Given the description of an element on the screen output the (x, y) to click on. 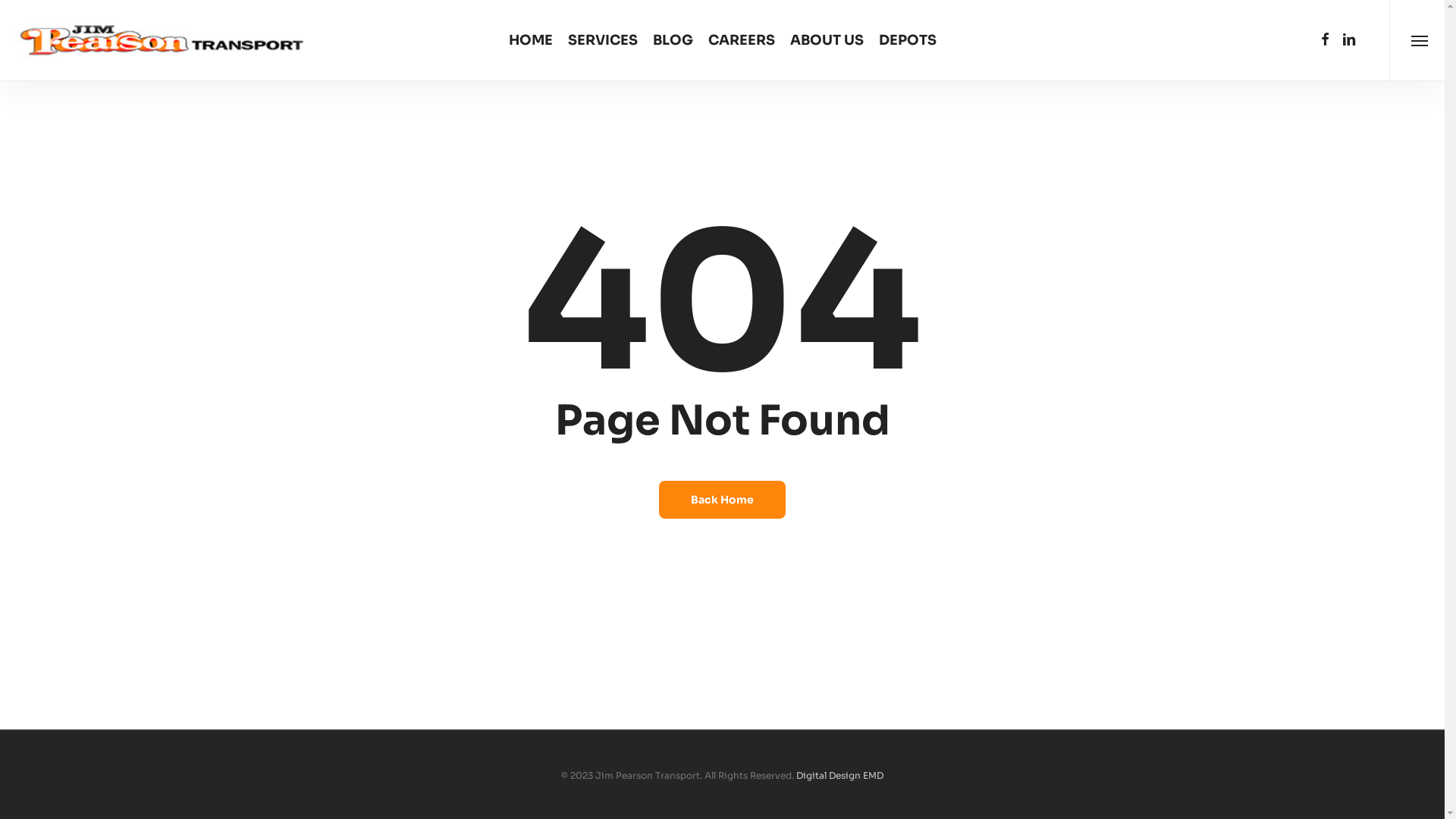
ABOUT US Element type: text (826, 40)
Menu Element type: text (1419, 40)
Digital Design EMD Element type: text (839, 775)
CAREERS Element type: text (741, 40)
BLOG Element type: text (671, 40)
facebook Element type: text (1324, 39)
linkedin Element type: text (1348, 39)
Back Home Element type: text (721, 499)
HOME Element type: text (529, 40)
SERVICES Element type: text (601, 40)
DEPOTS Element type: text (906, 40)
